Given the description of an element on the screen output the (x, y) to click on. 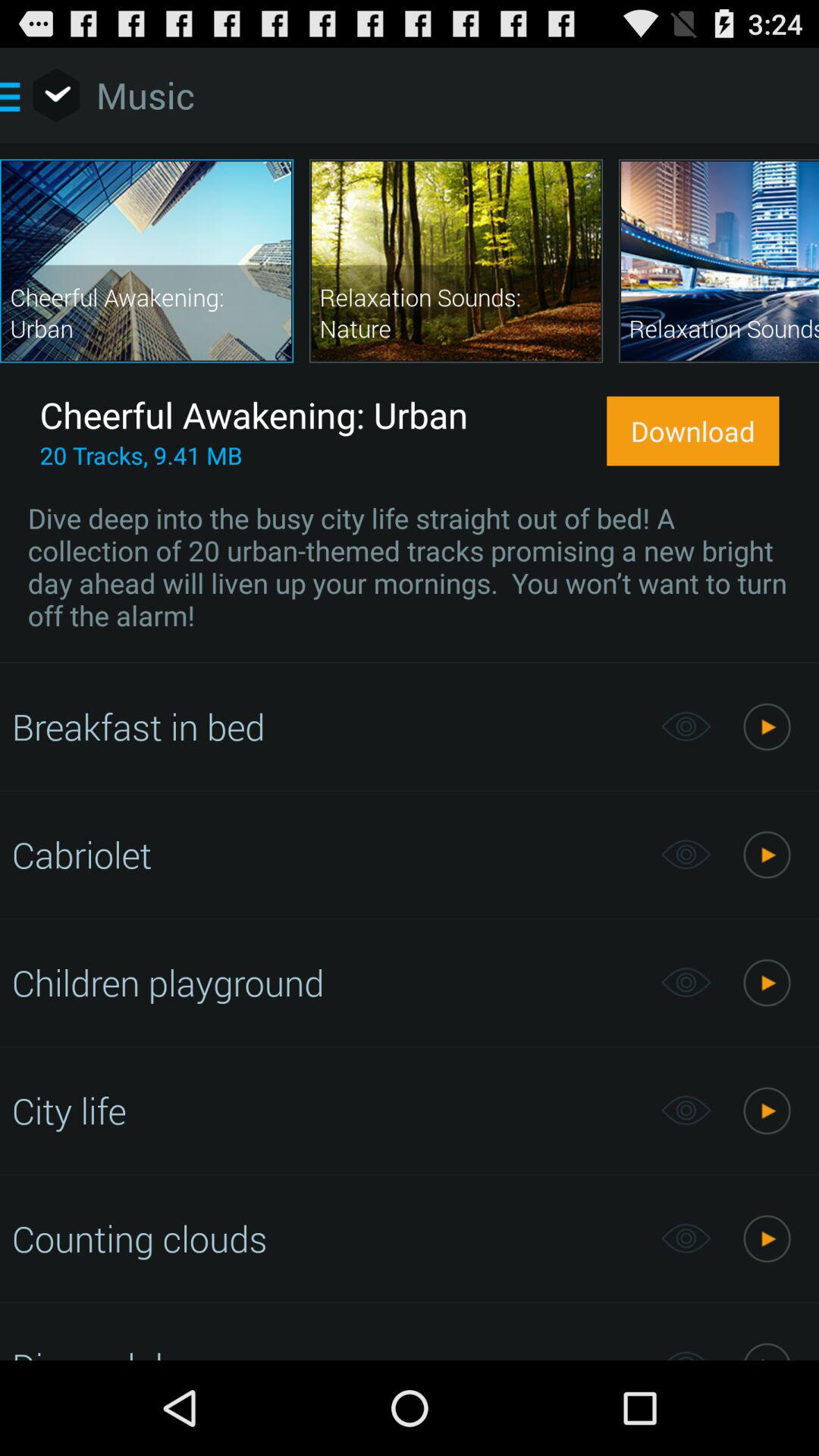
click item below breakfast in bed icon (327, 854)
